Given the description of an element on the screen output the (x, y) to click on. 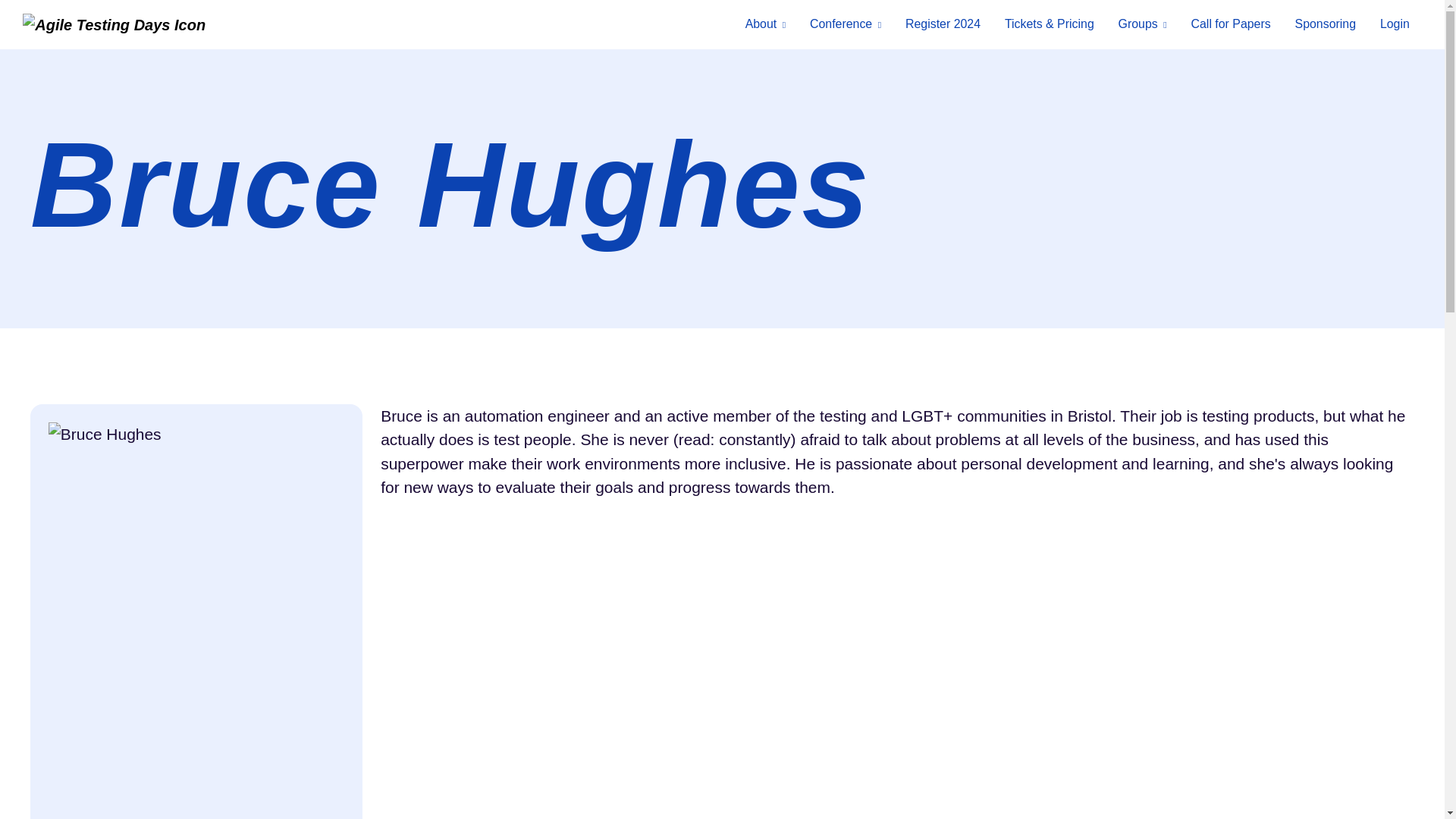
Call for Papers (1230, 23)
About (765, 24)
Login (1395, 23)
Conference (845, 24)
Register 2024 (942, 23)
Sponsoring (1325, 23)
Groups (1142, 24)
